Given the description of an element on the screen output the (x, y) to click on. 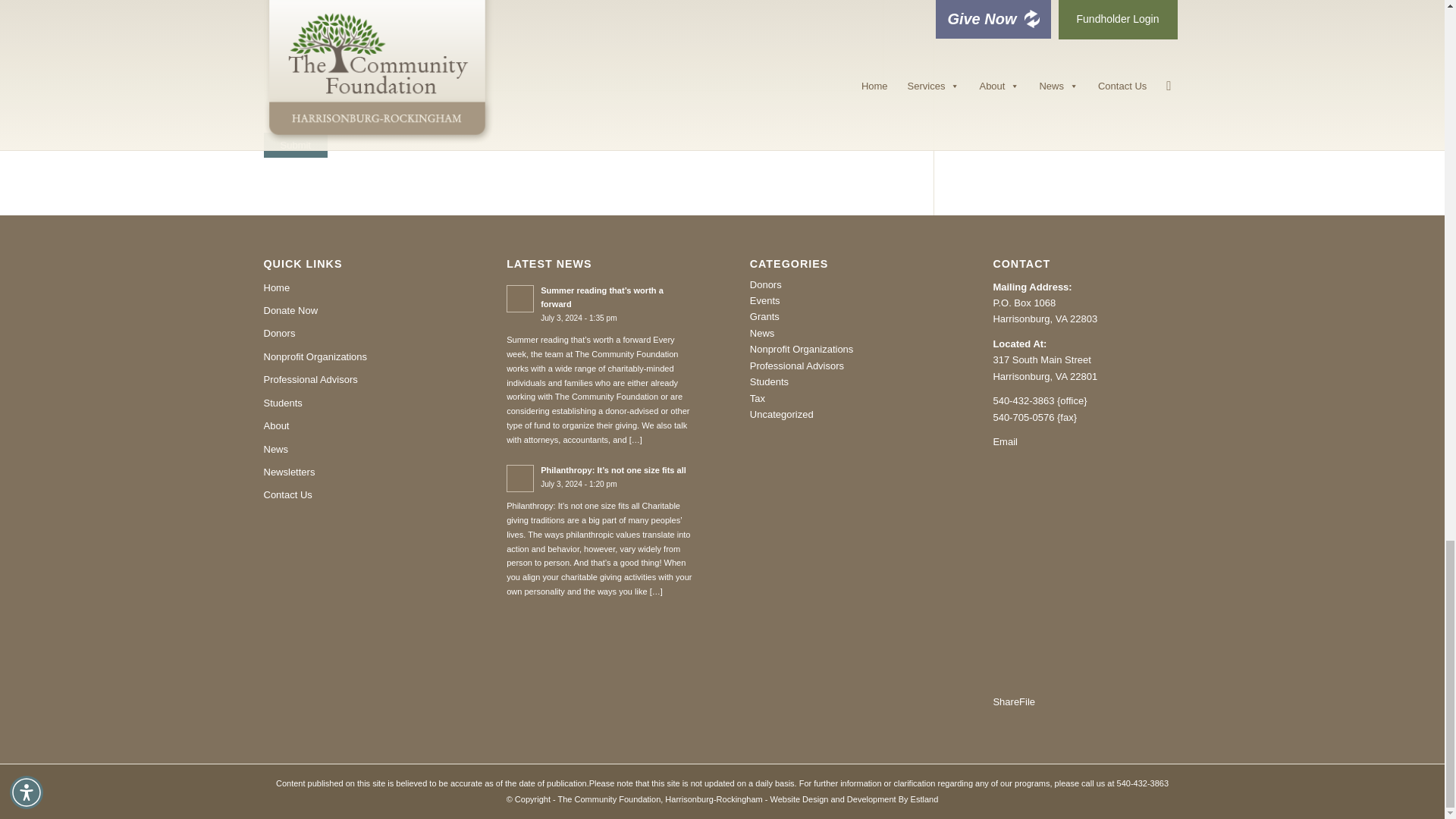
Submit (295, 145)
